Given the description of an element on the screen output the (x, y) to click on. 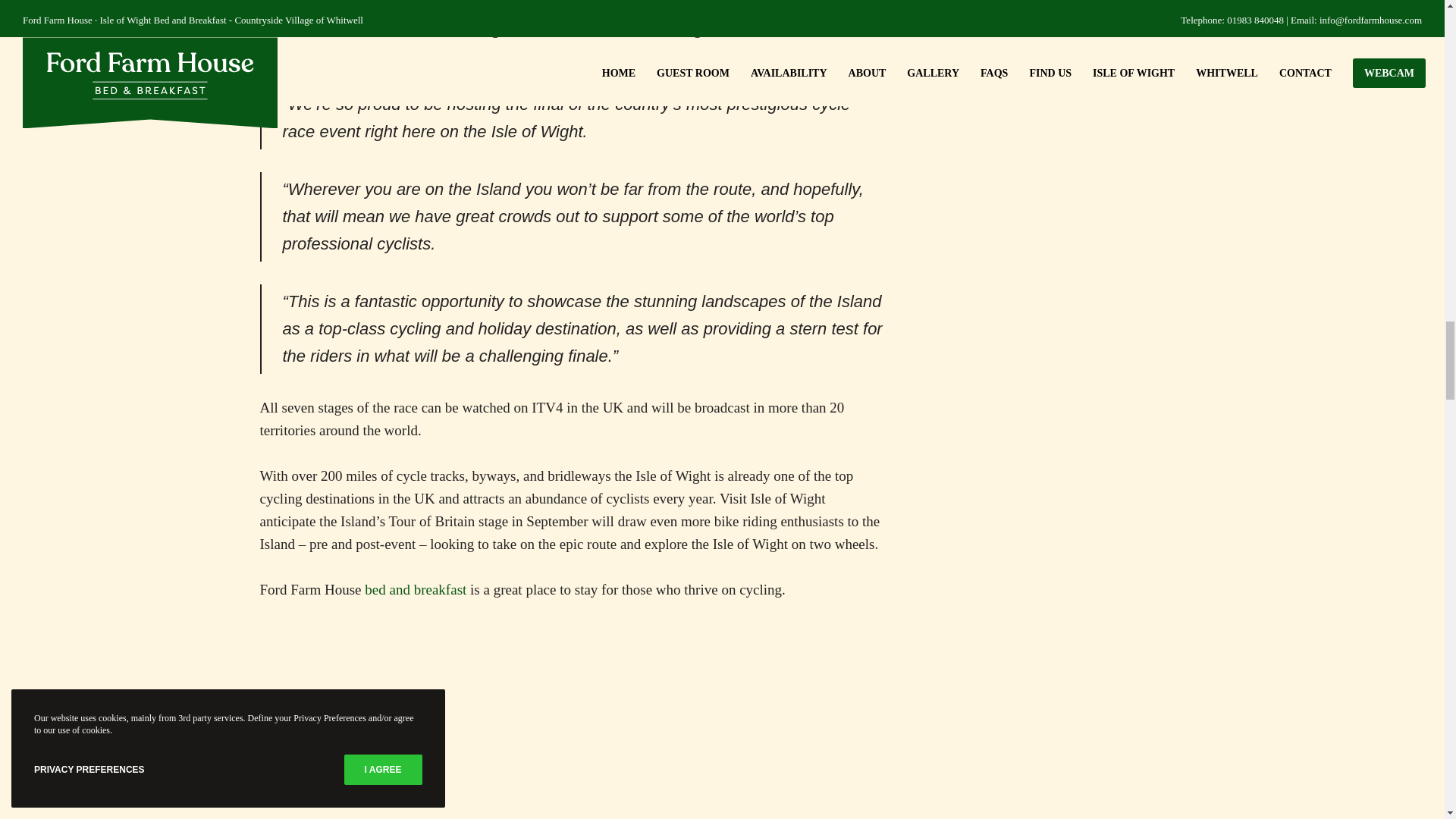
A Guide to the Tour of Britain (571, 721)
bed and breakfast (415, 589)
